Given the description of an element on the screen output the (x, y) to click on. 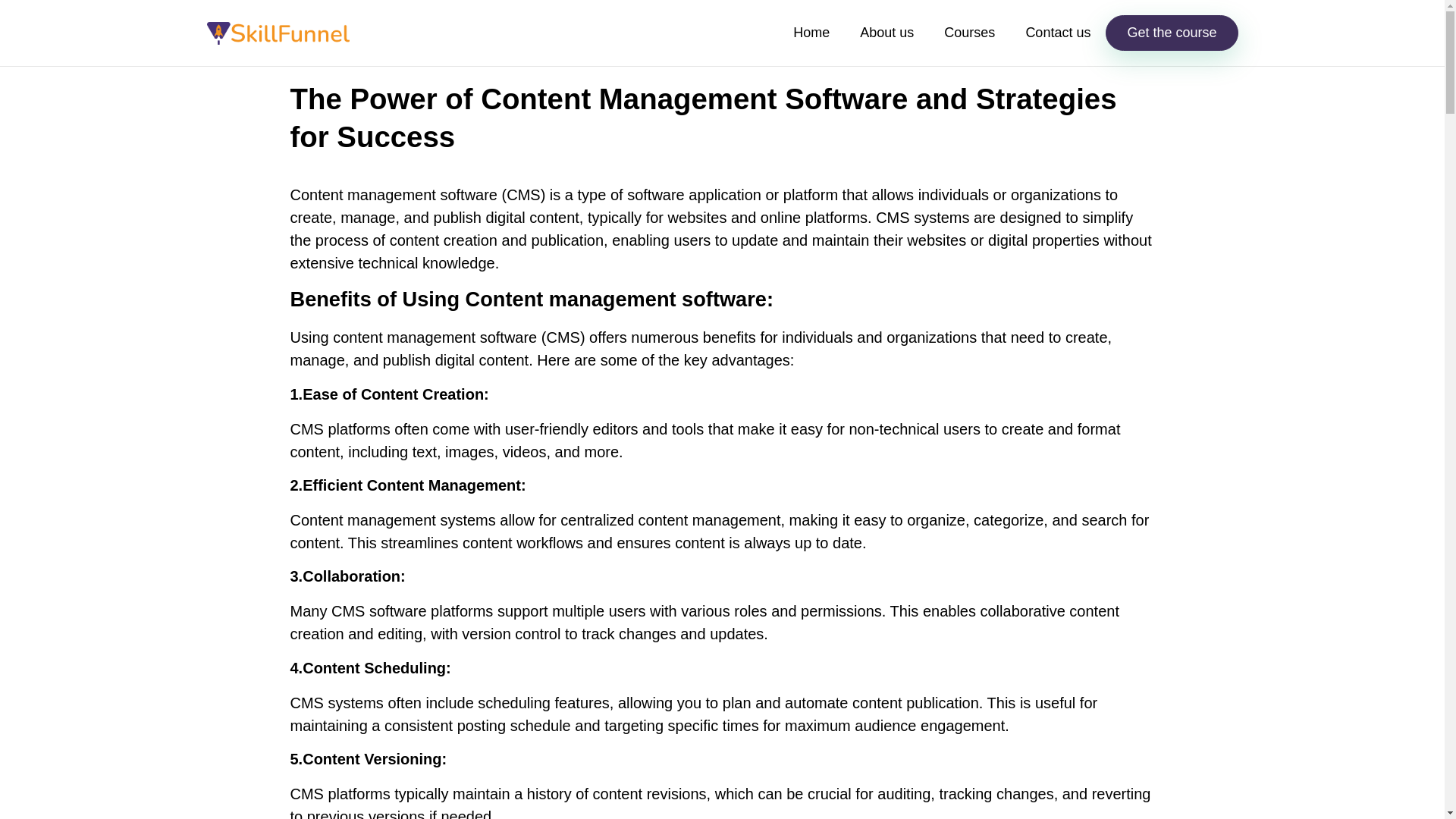
Courses (968, 32)
Contact us (1057, 32)
About us (887, 32)
Get the course (1171, 32)
Home (811, 32)
